Given the description of an element on the screen output the (x, y) to click on. 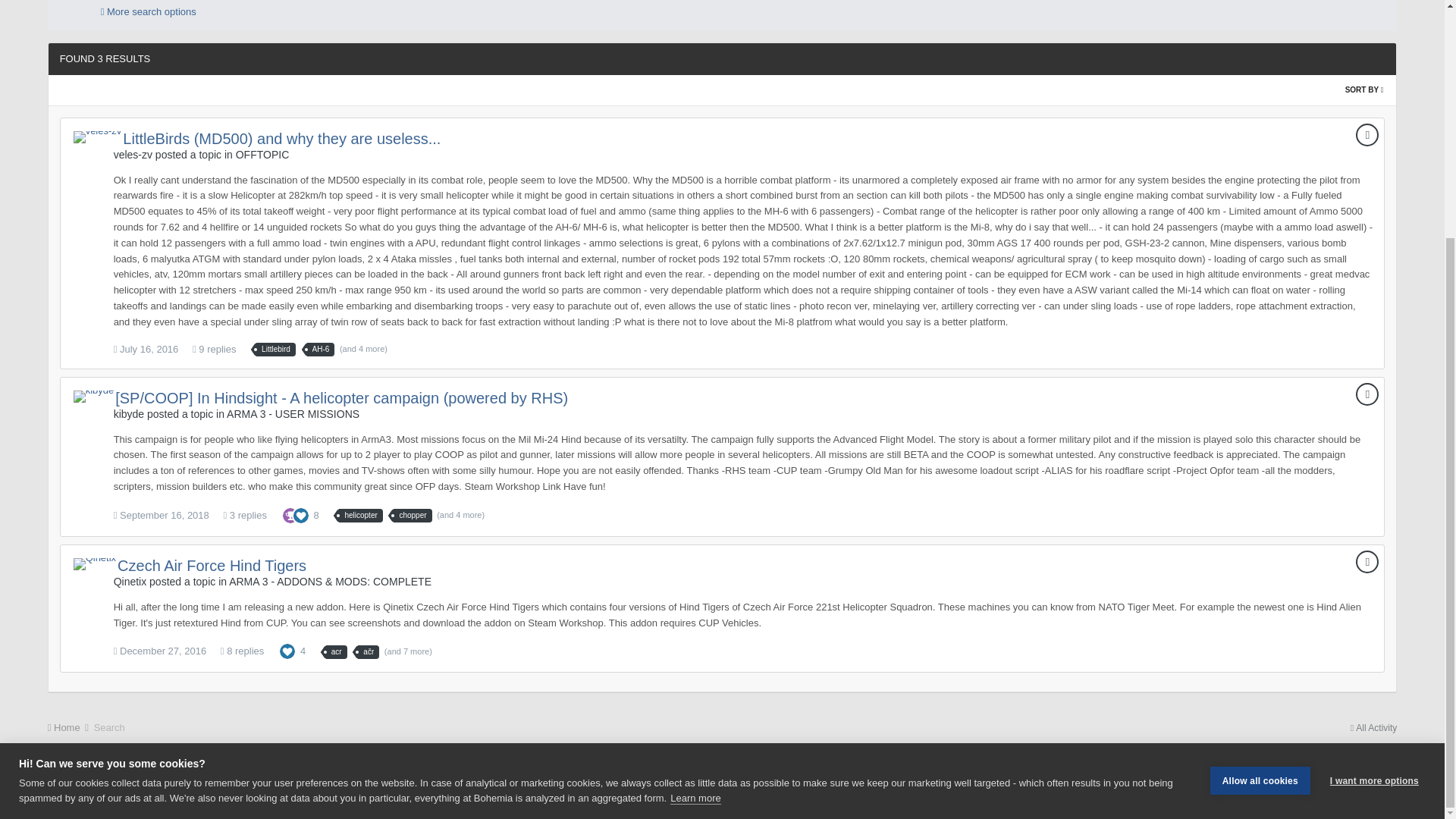
Find other content tagged with 'Littlebird' (275, 349)
Allow all cookies (1259, 504)
Find other content tagged with 'AH-6' (320, 349)
Go to kibyde's profile (94, 396)
Learn more (694, 531)
Thanks (290, 514)
Topic (1366, 394)
Topic (1366, 134)
Go to veles-zv's profile (98, 137)
Like (301, 514)
